Given the description of an element on the screen output the (x, y) to click on. 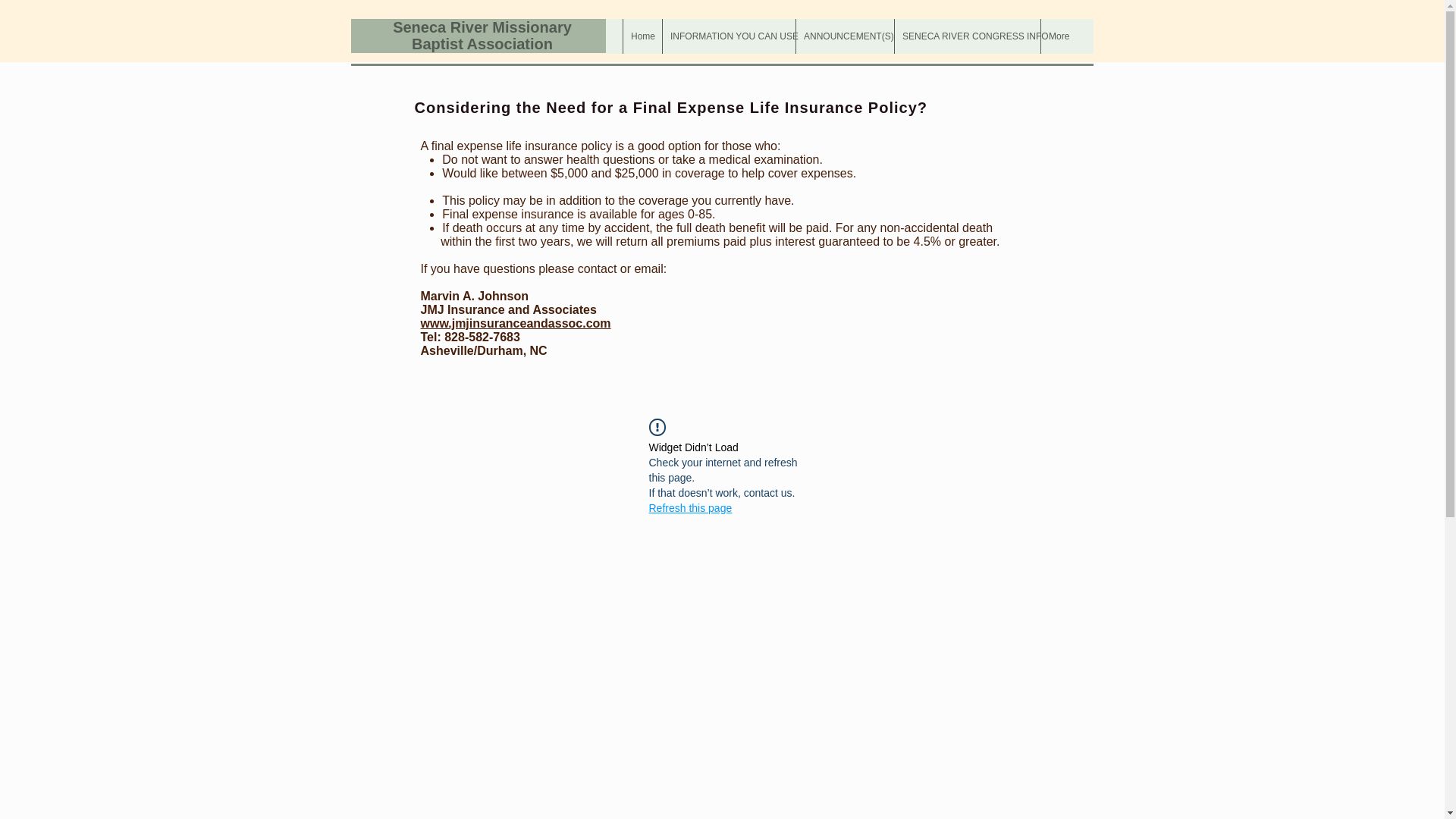
www.jmjinsuranceandassoc.com (515, 323)
Home (642, 36)
Refresh this page (690, 507)
